Given the description of an element on the screen output the (x, y) to click on. 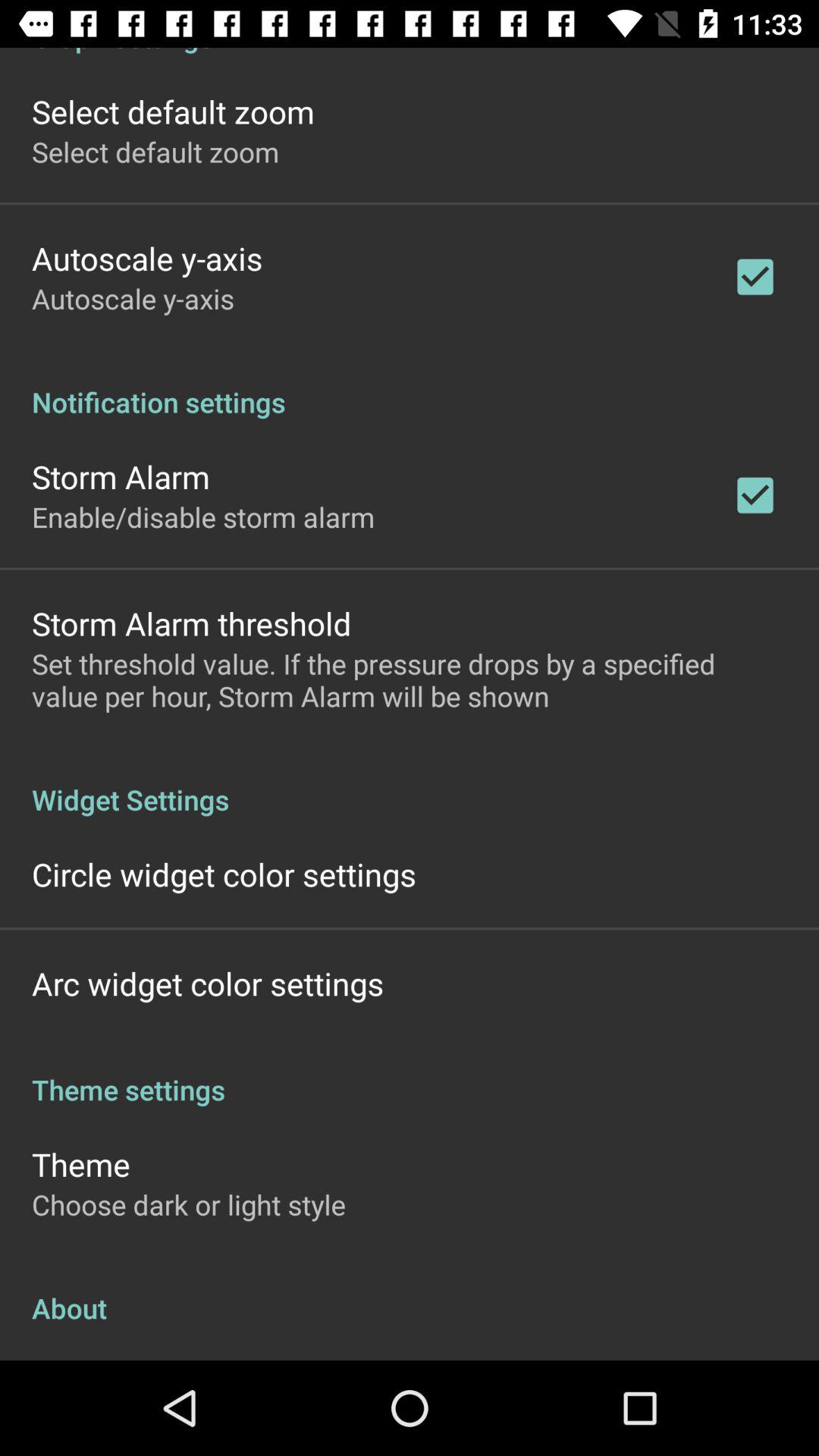
jump until enable disable storm (202, 516)
